Given the description of an element on the screen output the (x, y) to click on. 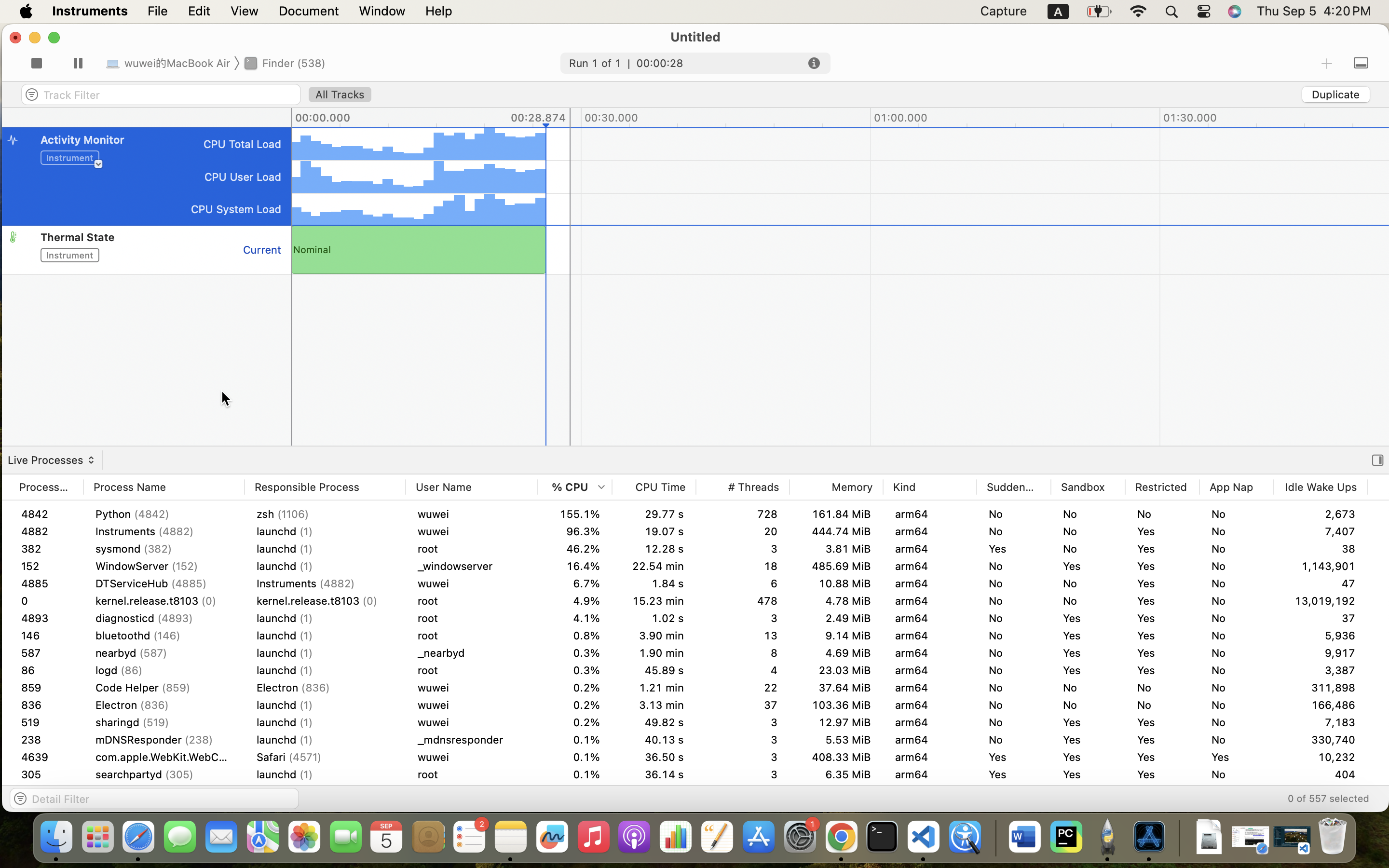
diagnosticd (4893) Element type: AXStaticText (163, 617)
4842 Element type: AXStaticText (46, 513)
5,932 Element type: AXStaticText (1320, 635)
330,673 Element type: AXStaticText (1320, 791)
nearbyd (587) Element type: AXStaticText (163, 670)
